Given the description of an element on the screen output the (x, y) to click on. 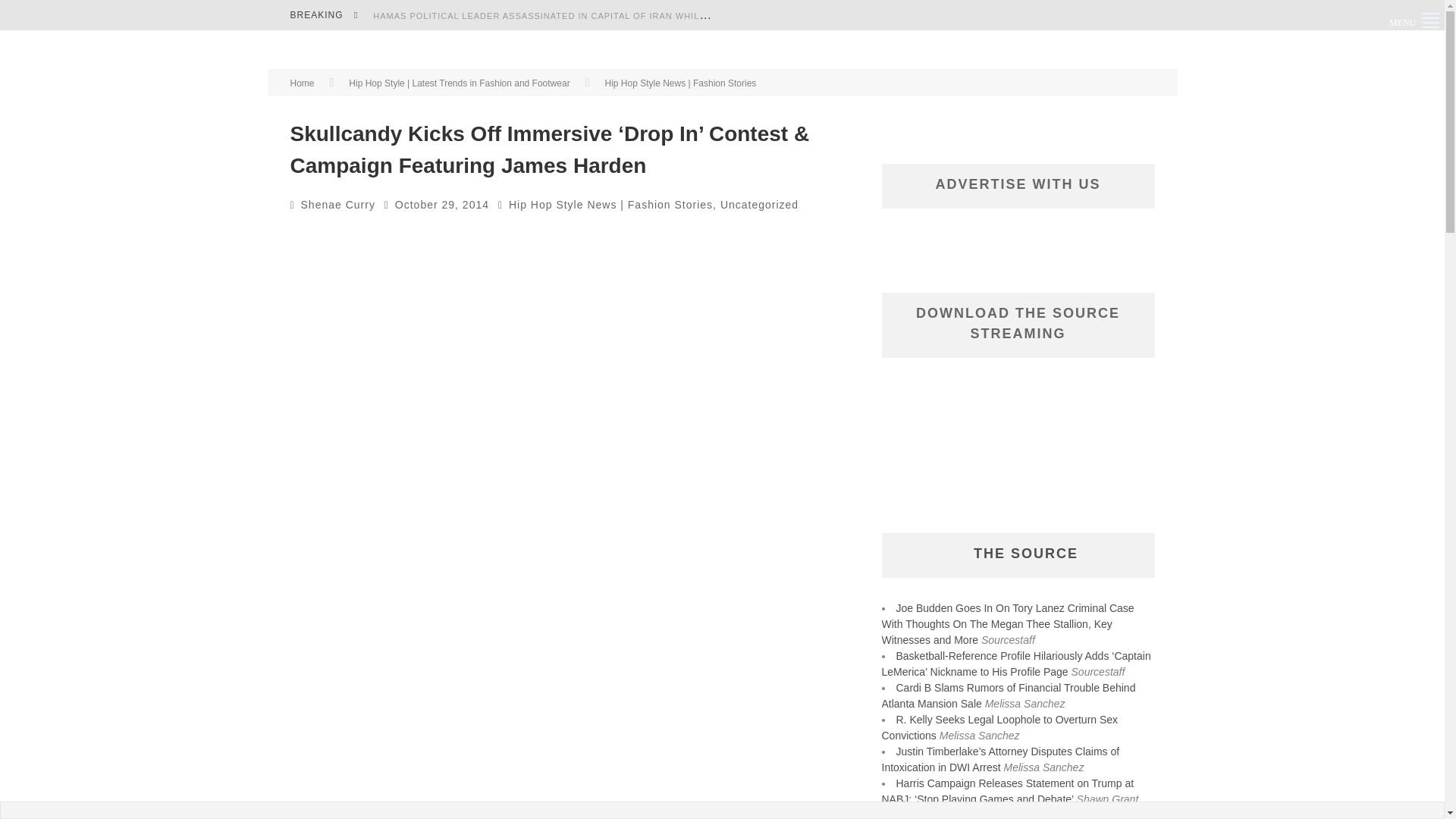
Uncategorized (758, 204)
Shenae Curry (338, 204)
Home (301, 82)
View all posts in Uncategorized (758, 204)
